Given the description of an element on the screen output the (x, y) to click on. 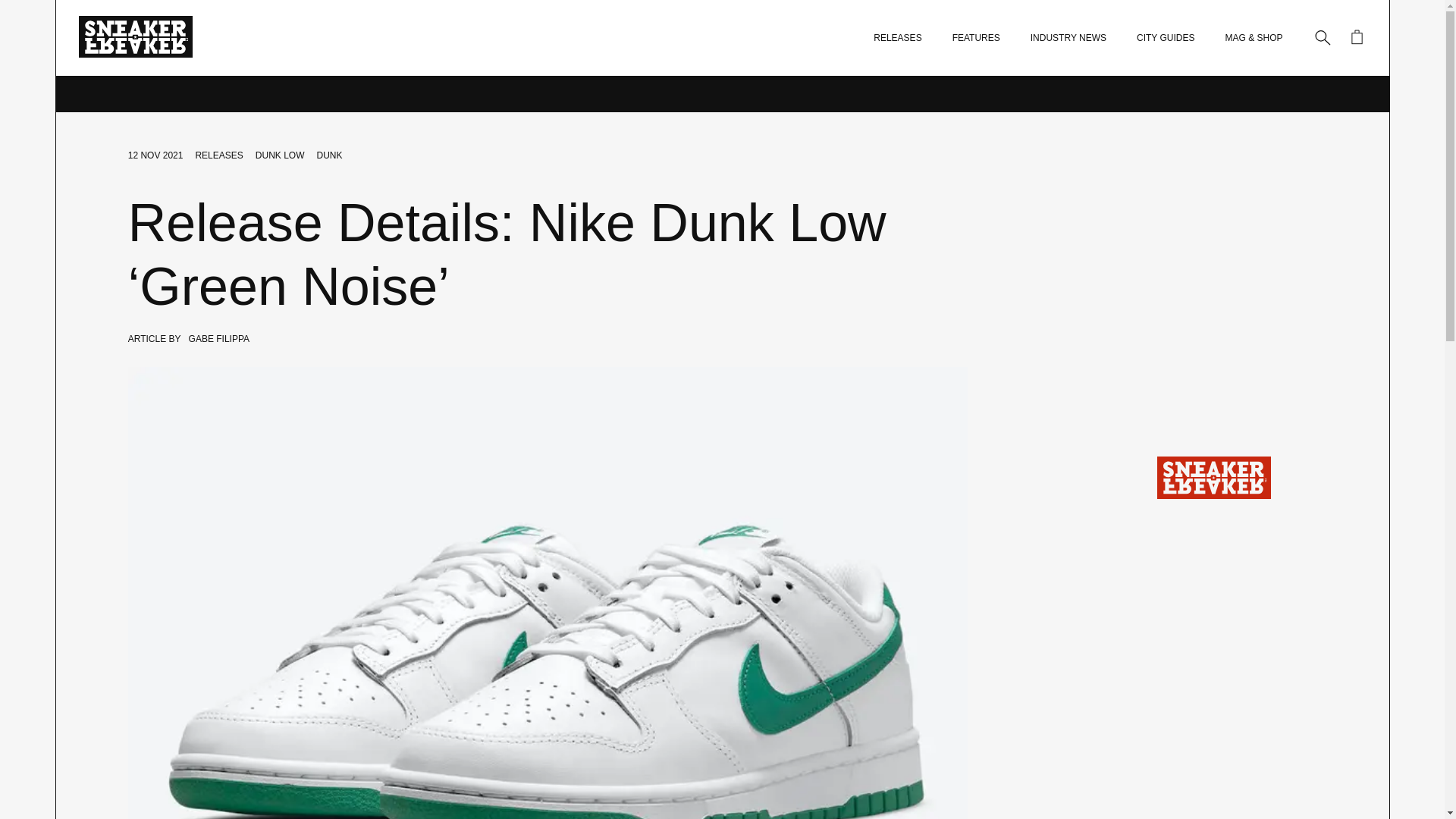
INDUSTRY NEWS (1068, 37)
FEATURES (976, 37)
CITY GUIDES (1165, 37)
DUNK LOW (280, 154)
RELEASES (897, 37)
DUNK (329, 154)
GABE FILIPPA (218, 338)
RELEASES (219, 154)
